Given the description of an element on the screen output the (x, y) to click on. 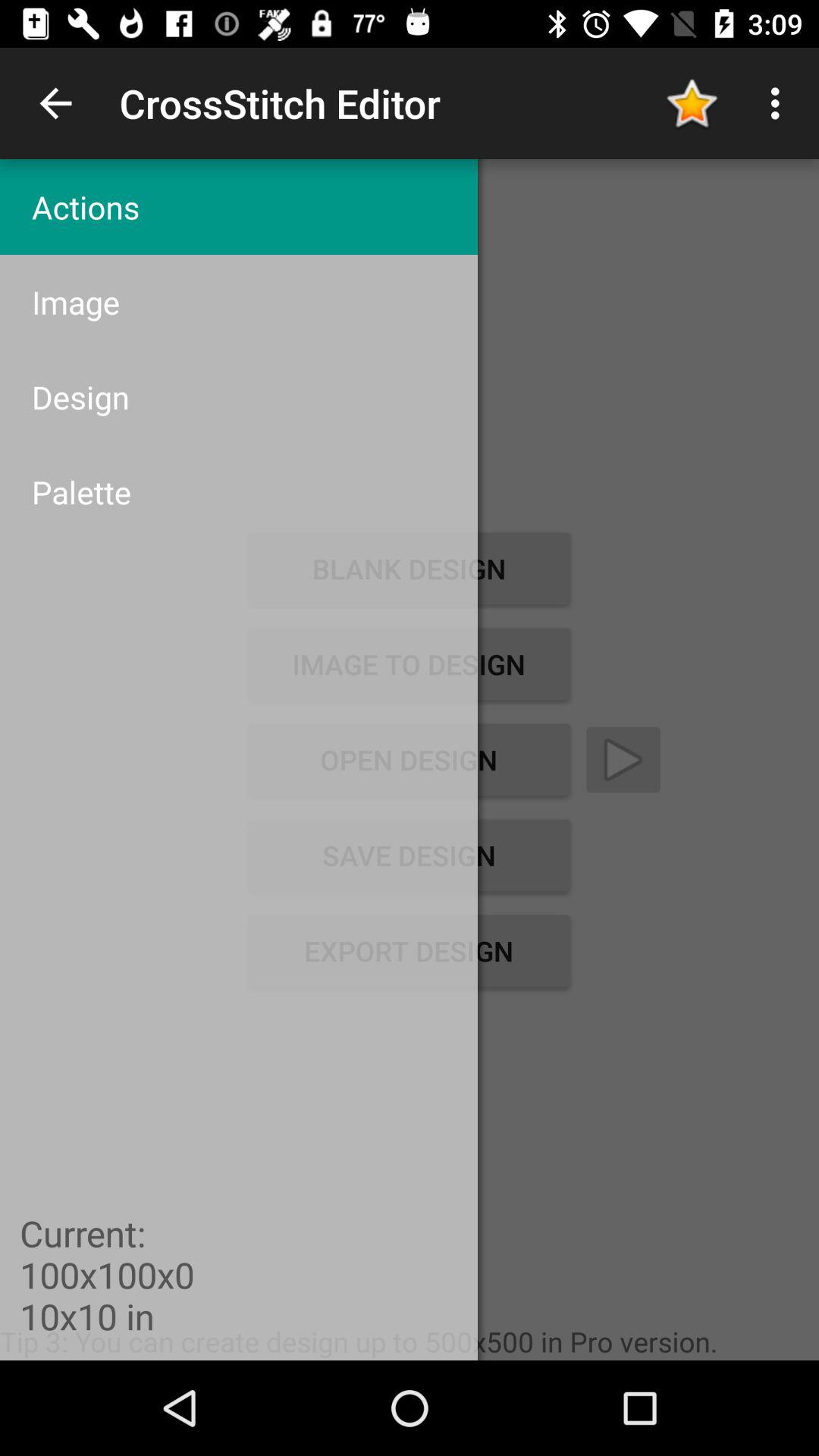
open item to the left of crossstitch editor app (55, 103)
